Given the description of an element on the screen output the (x, y) to click on. 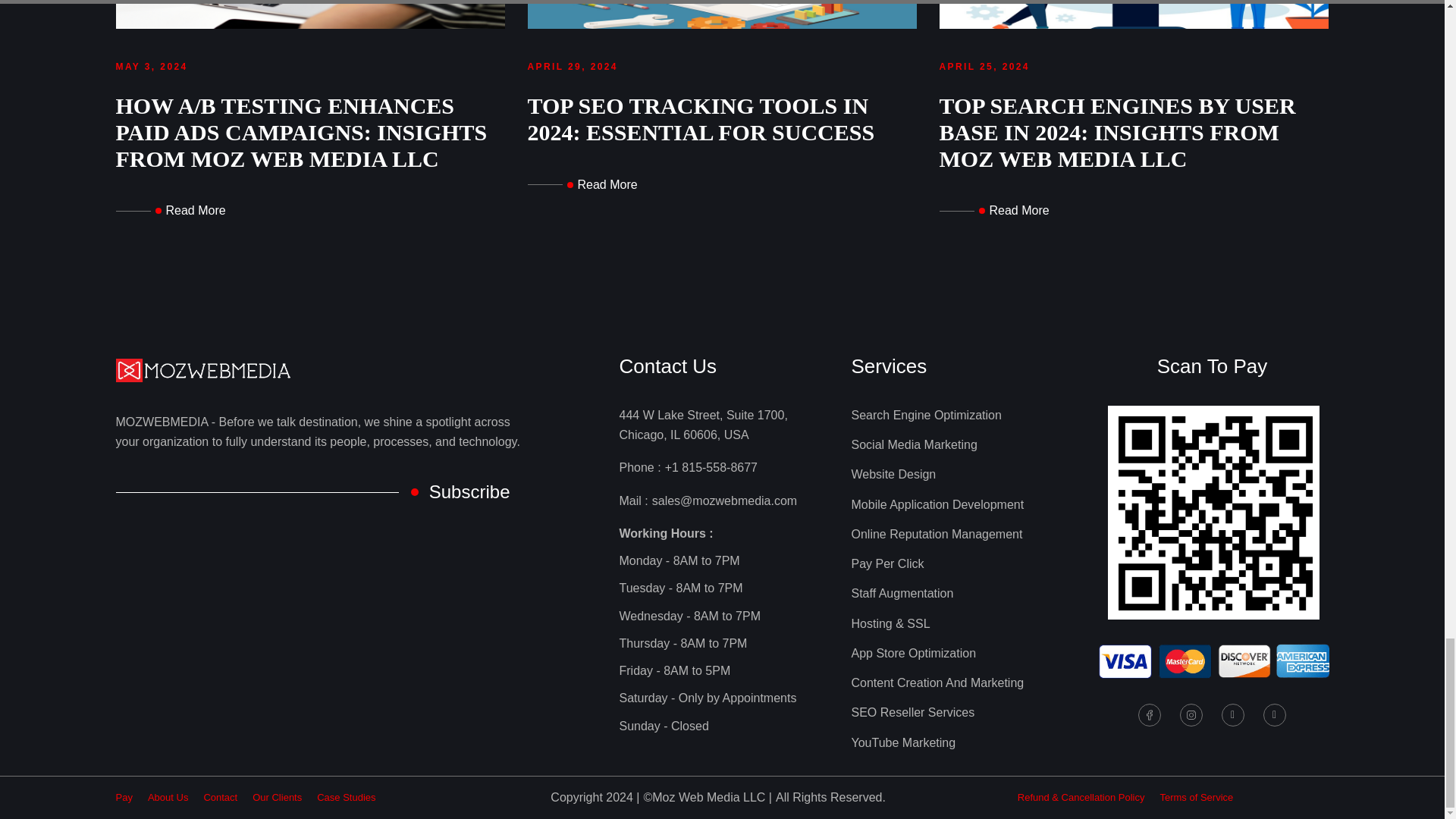
Top SEO Tracking Tools in 2024: Essential for Success (582, 184)
